Given the description of an element on the screen output the (x, y) to click on. 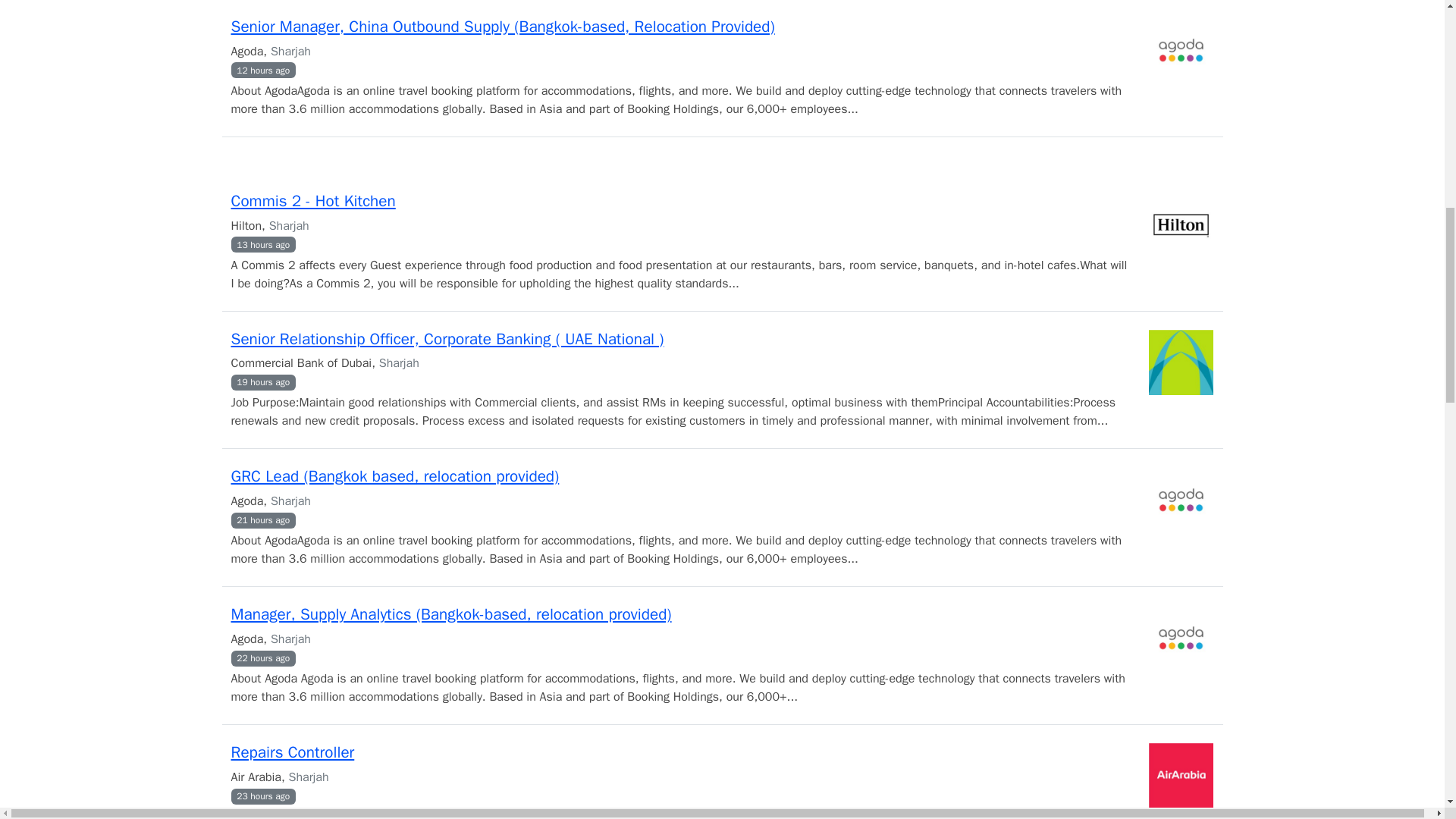
Commis 2 - Hot Kitchen (312, 200)
Repairs Controller (291, 752)
